Given the description of an element on the screen output the (x, y) to click on. 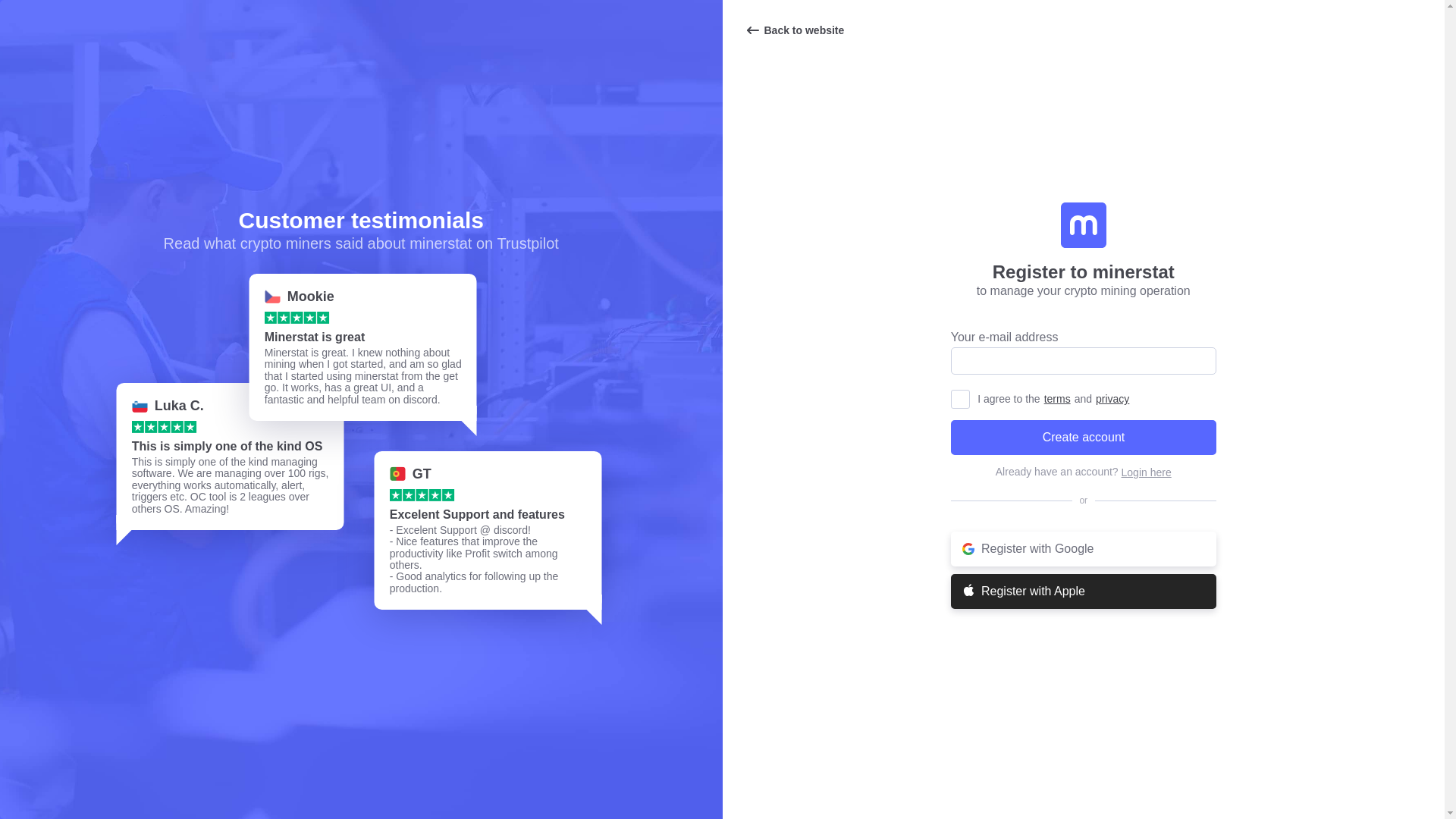
privacy (1112, 398)
Login (1146, 472)
Back to website (794, 29)
terms (1056, 398)
Create account (1082, 437)
Login here (1146, 472)
